Given the description of an element on the screen output the (x, y) to click on. 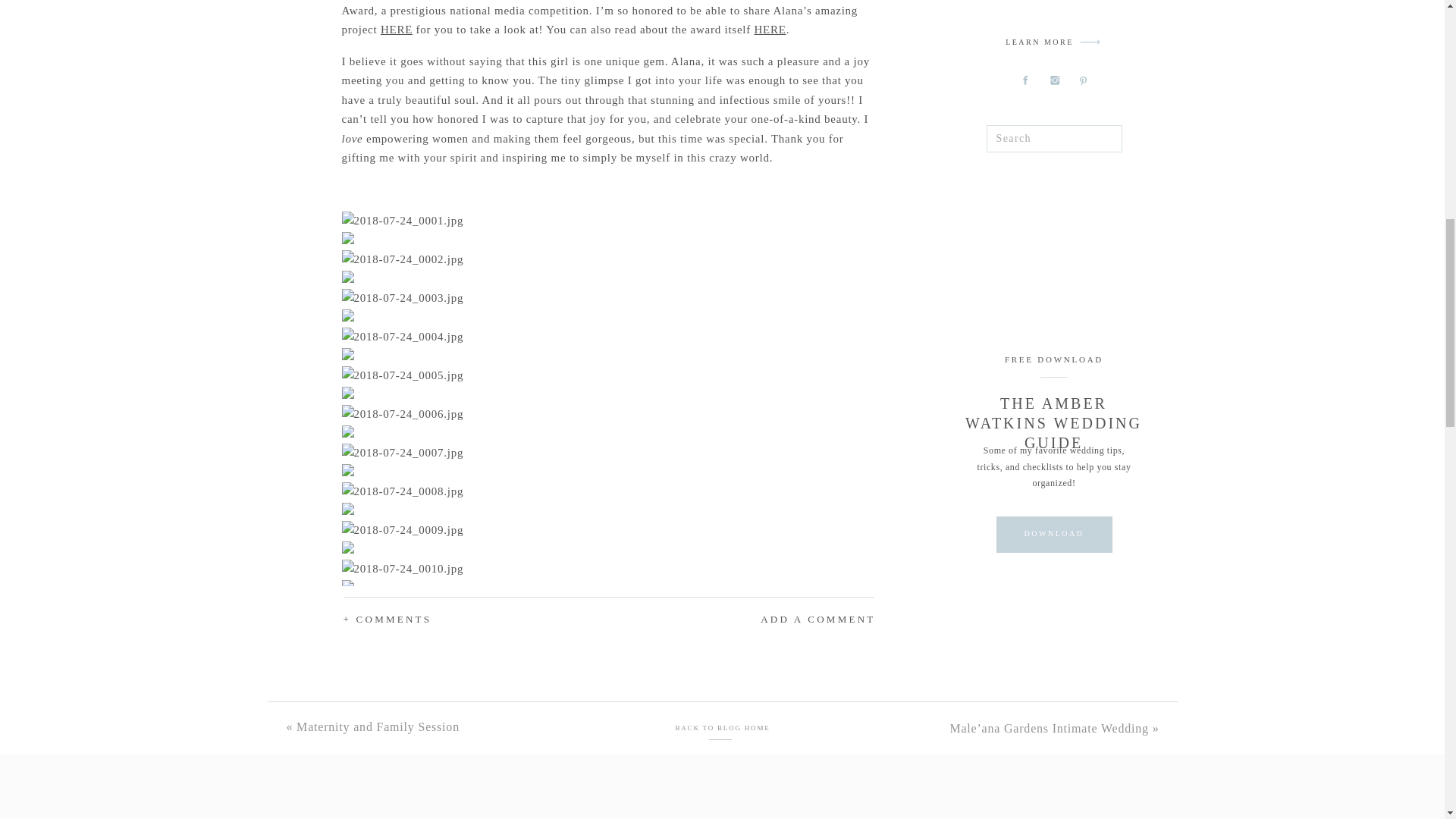
arrow (1089, 41)
arrow (1089, 41)
HERE (396, 29)
HERE (770, 29)
DOWNLOAD (1053, 533)
LEARN MORE (1039, 44)
